Given the description of an element on the screen output the (x, y) to click on. 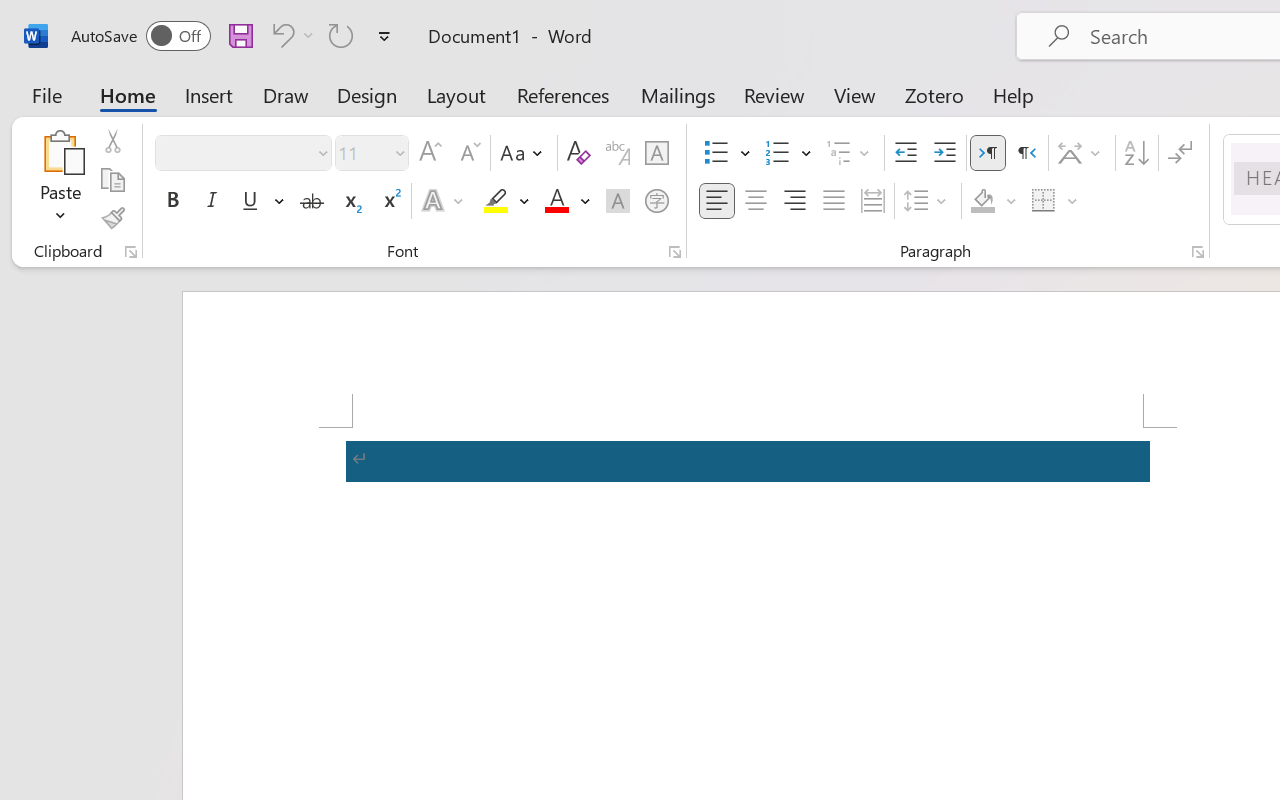
Right-to-Left (1026, 153)
